Given the description of an element on the screen output the (x, y) to click on. 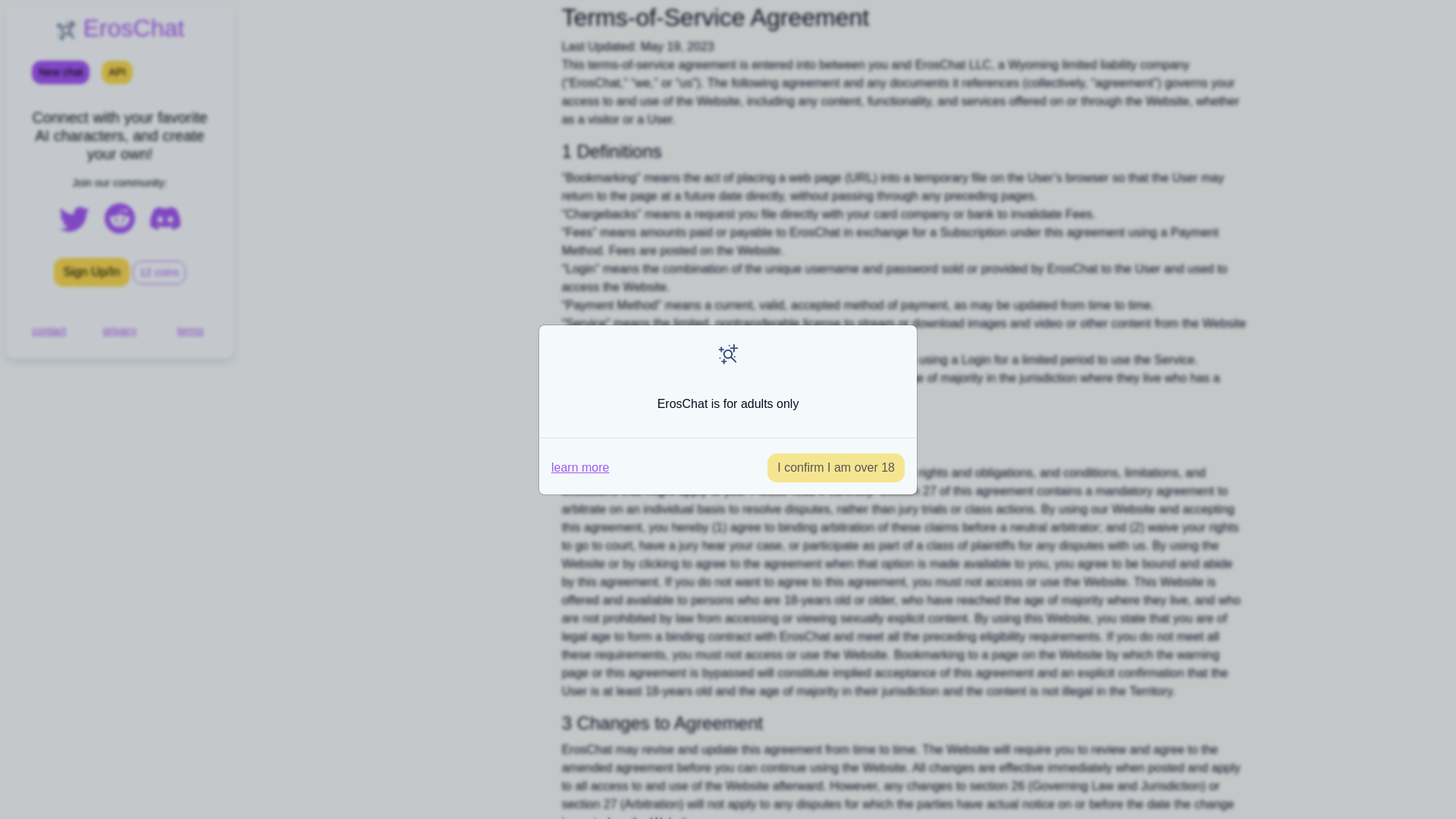
contact (48, 330)
New chat (60, 72)
12 coins (159, 272)
terms (190, 330)
privacy (119, 330)
ErosChat (119, 27)
API (116, 72)
